Given the description of an element on the screen output the (x, y) to click on. 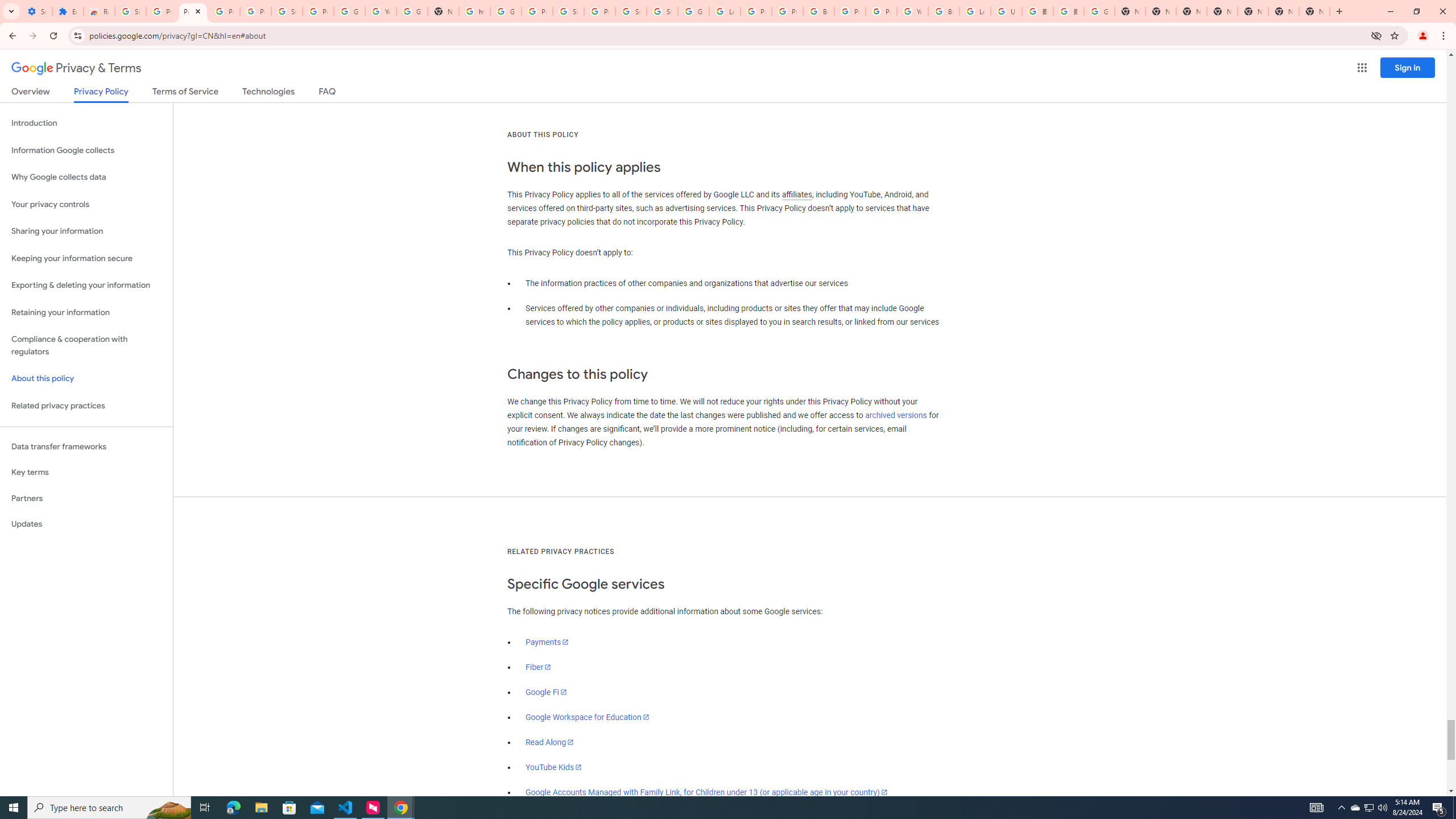
Why Google collects data (86, 176)
Exporting & deleting your information (86, 284)
Sign in - Google Accounts (130, 11)
archived versions (895, 415)
https://scholar.google.com/ (474, 11)
